Given the description of an element on the screen output the (x, y) to click on. 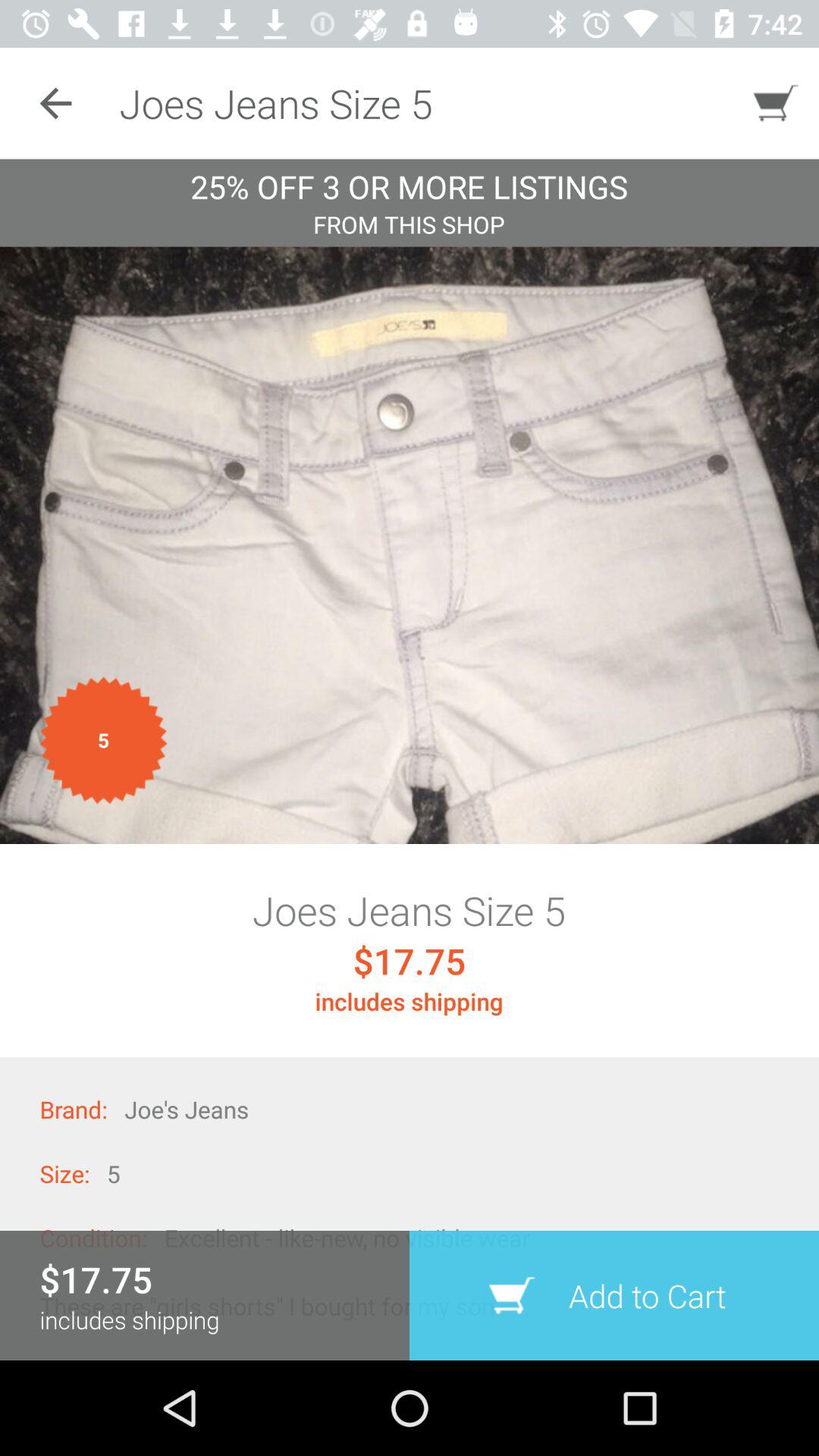
tap item next to joes jeans size item (55, 103)
